Given the description of an element on the screen output the (x, y) to click on. 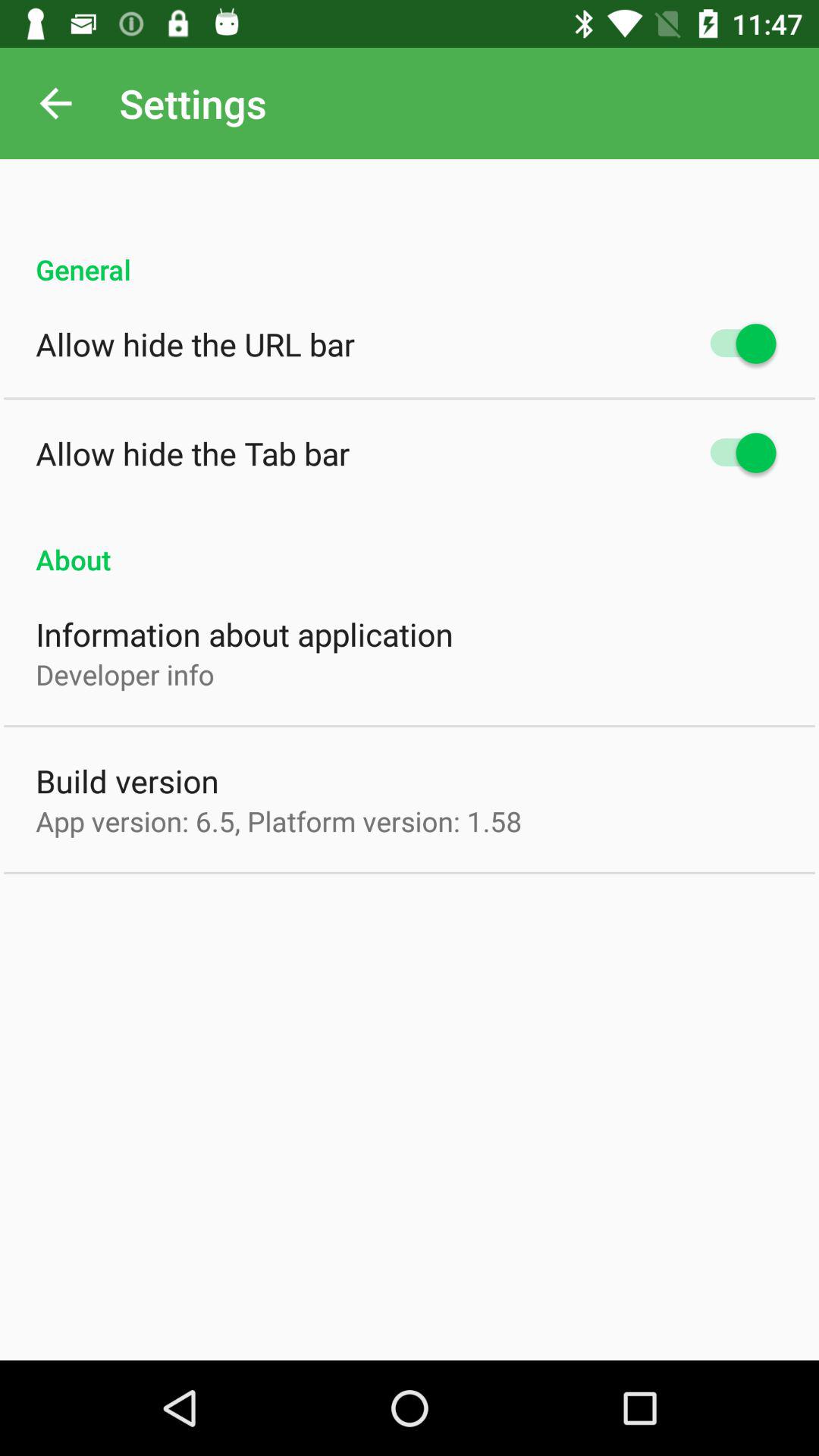
tap the icon above the build version icon (124, 674)
